Given the description of an element on the screen output the (x, y) to click on. 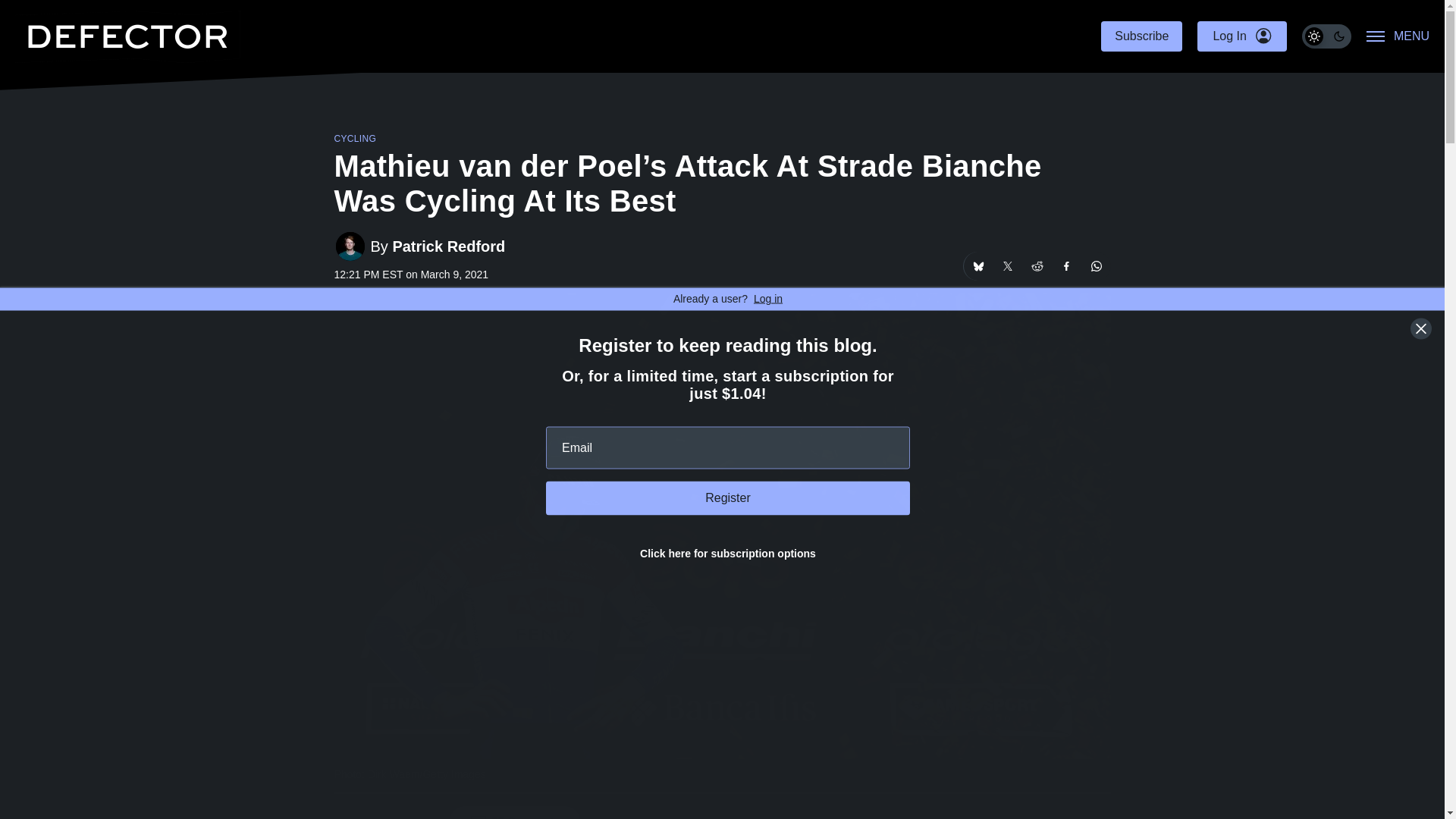
CYCLING (354, 138)
Share on Bluesky (976, 265)
Share on Facebook (1066, 265)
Subscribe (1141, 36)
Log In (1240, 36)
MENU (1398, 36)
Share on Reddit (1036, 265)
Patrick Redford (448, 246)
